Given the description of an element on the screen output the (x, y) to click on. 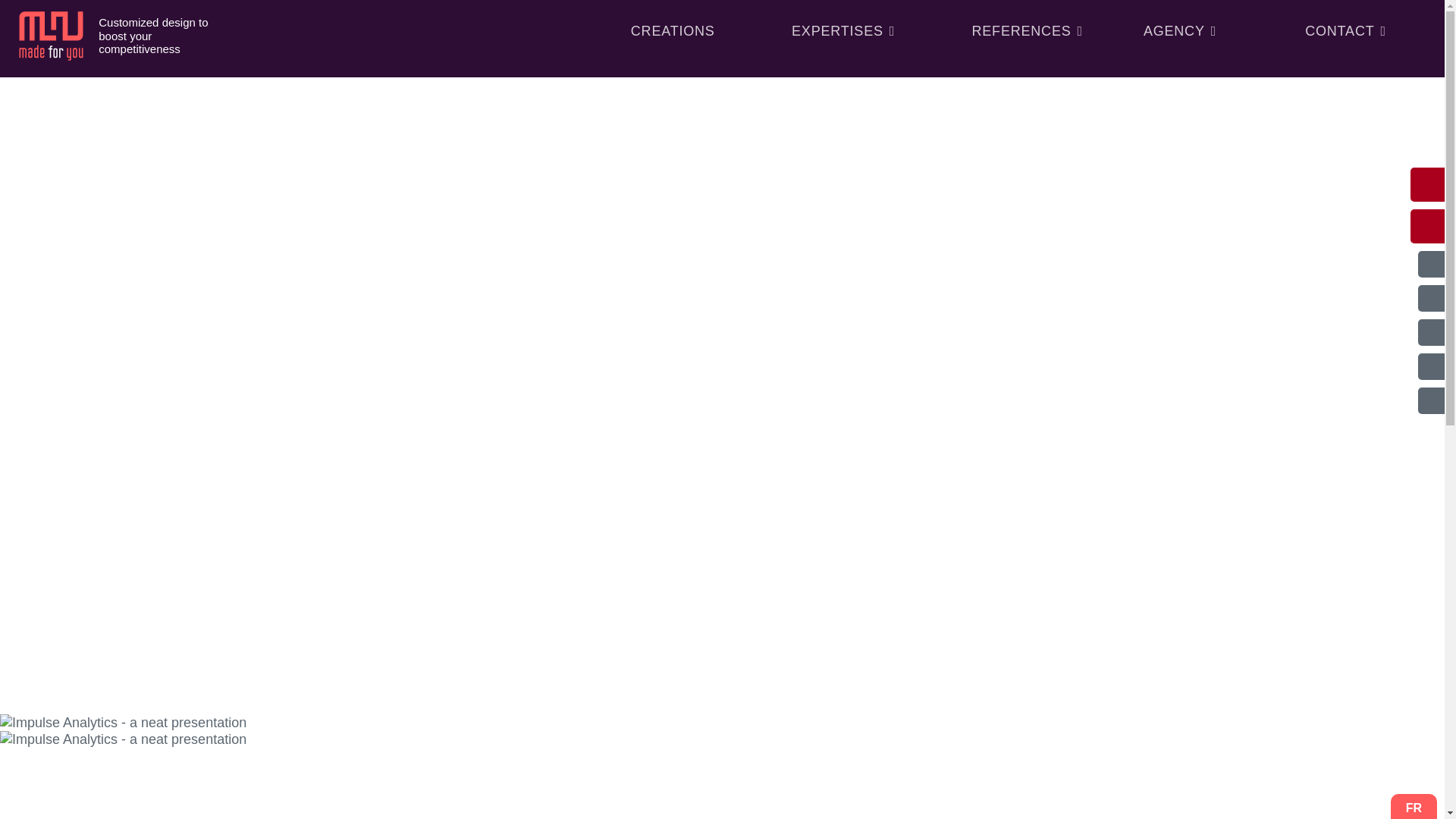
CREATIONS (672, 30)
CONTACT (1345, 30)
FR (1414, 808)
EXPERTISES (843, 30)
AGENCY (1179, 30)
REFERENCES (1026, 30)
